Given the description of an element on the screen output the (x, y) to click on. 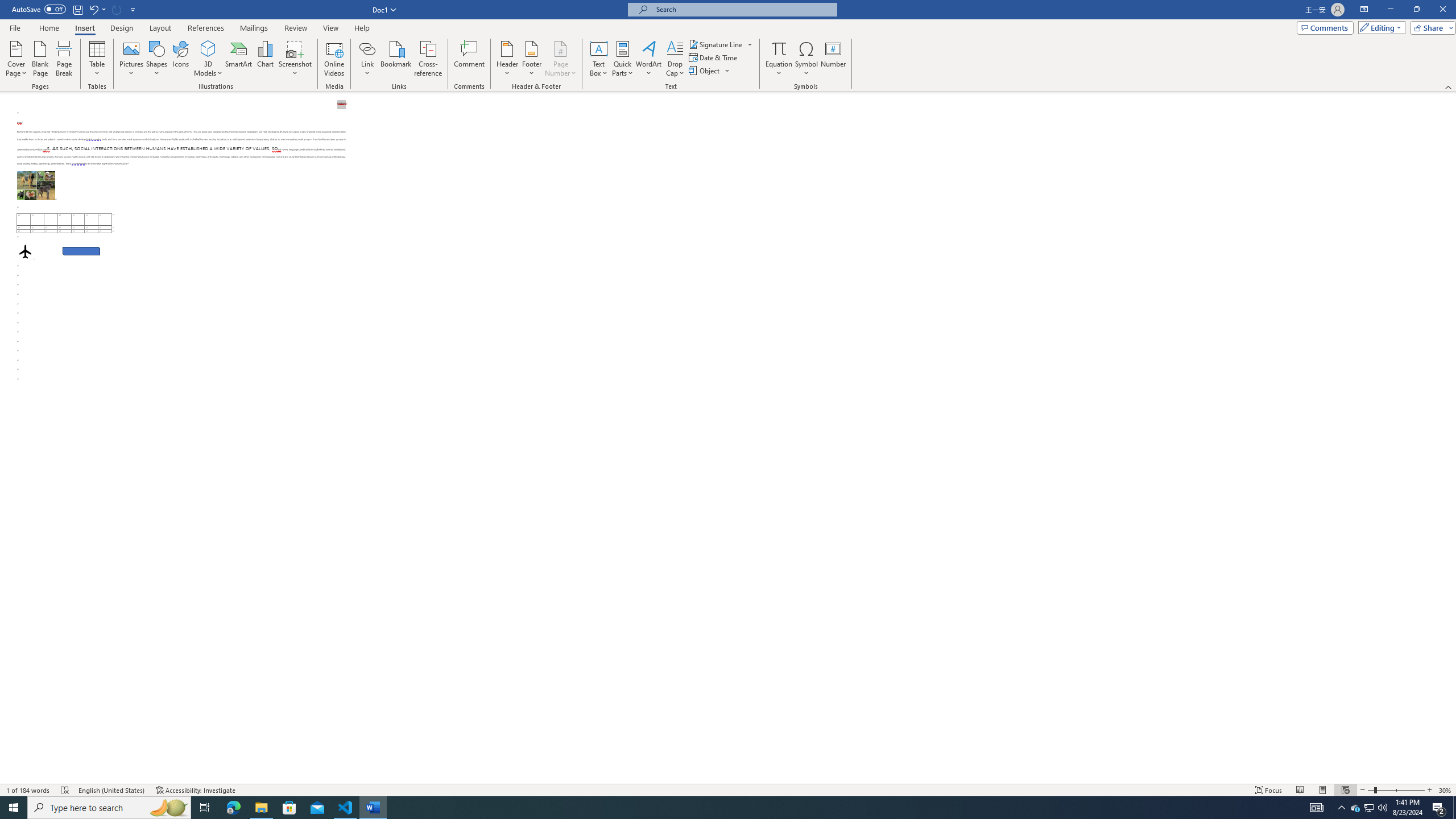
Signature Line (716, 44)
Equation (778, 48)
Cover Page (16, 58)
Layout (160, 28)
Microsoft search (742, 9)
Icons (180, 58)
Zoom Out (1370, 790)
Footer (531, 58)
Pictures (131, 58)
Quick Access Toolbar (74, 9)
Focus  (1268, 790)
Design (122, 28)
Insert (83, 28)
AutoSave (38, 9)
